Given the description of an element on the screen output the (x, y) to click on. 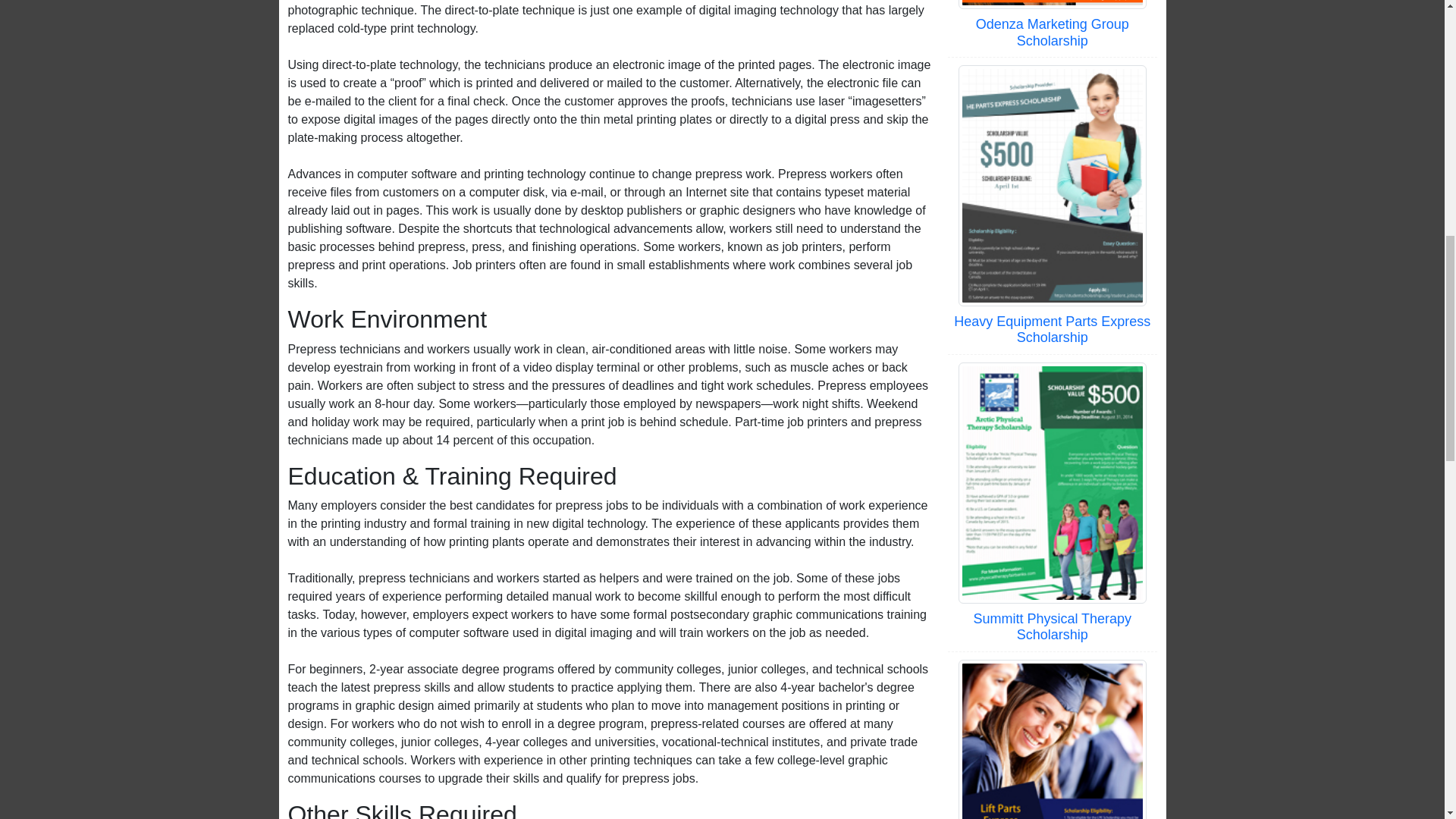
Odenza Marketing Group Scholarship (1052, 32)
Heavy Equipment Parts Express Scholarship (1051, 329)
Summitt Physical Therapy Scholarship (1051, 626)
